Given the description of an element on the screen output the (x, y) to click on. 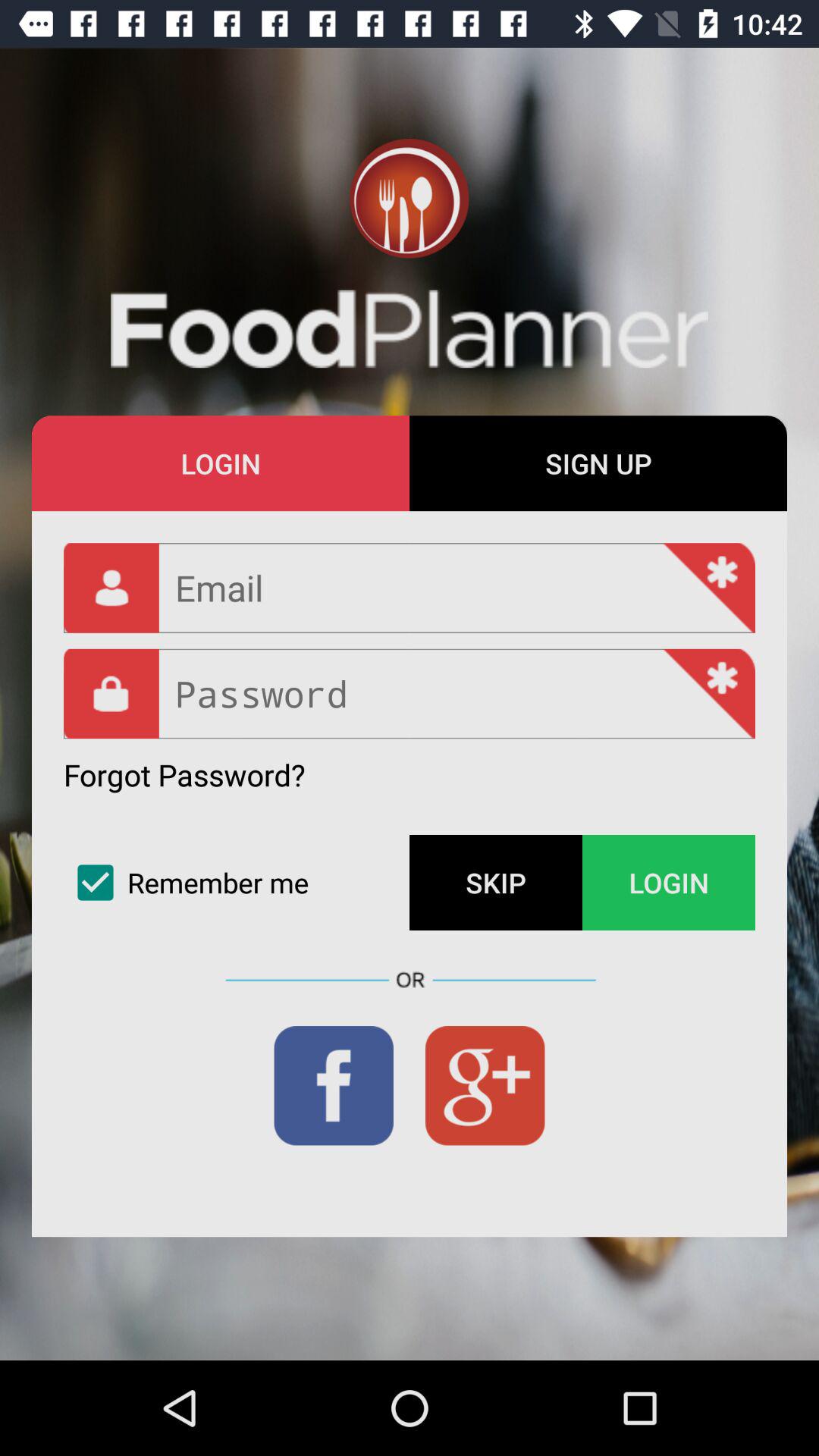
press the icon above remember me item (184, 774)
